Given the description of an element on the screen output the (x, y) to click on. 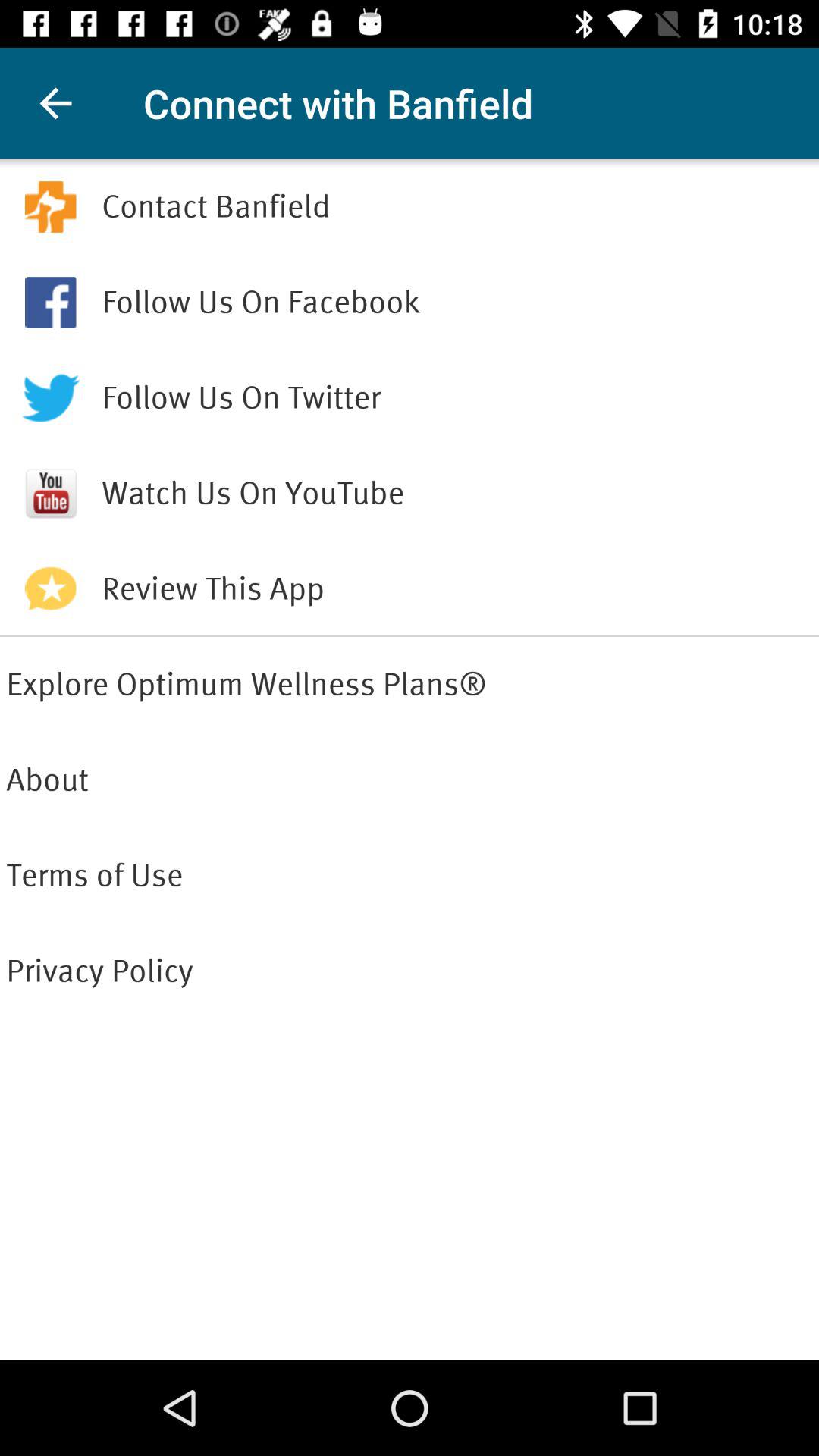
turn on the about item (409, 780)
